Given the description of an element on the screen output the (x, y) to click on. 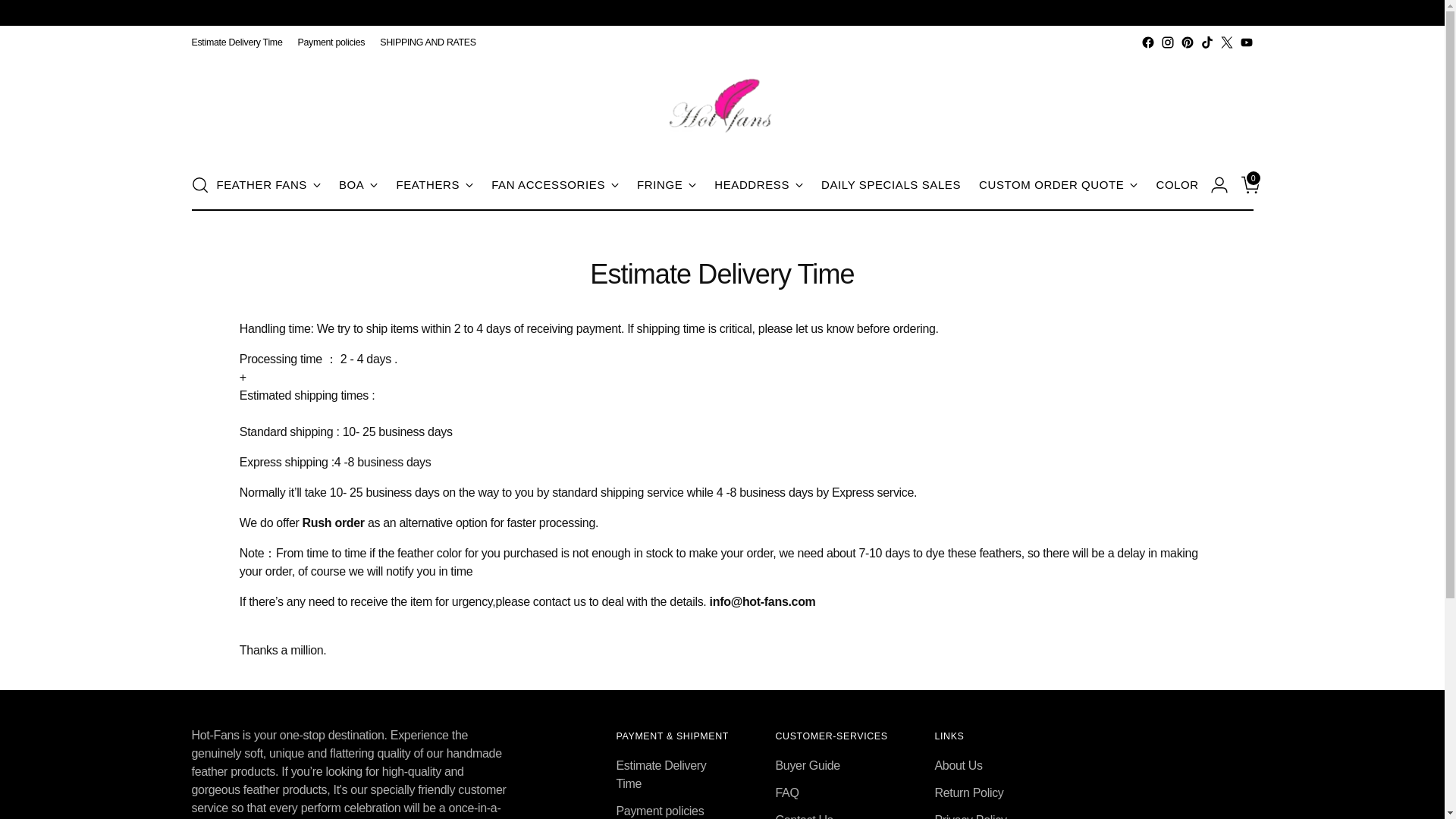
SHIPPING AND RATES (428, 41)
hot fans su Pinterest (1186, 42)
hot fans su YouTube (1245, 42)
hot fans su Instagram (1166, 42)
hot fans su Twitter (1226, 42)
Estimate Delivery Time (236, 41)
hot fans su Facebook (1147, 42)
hot fans su Tiktok (1205, 42)
FEATHER FANS (268, 184)
